Given the description of an element on the screen output the (x, y) to click on. 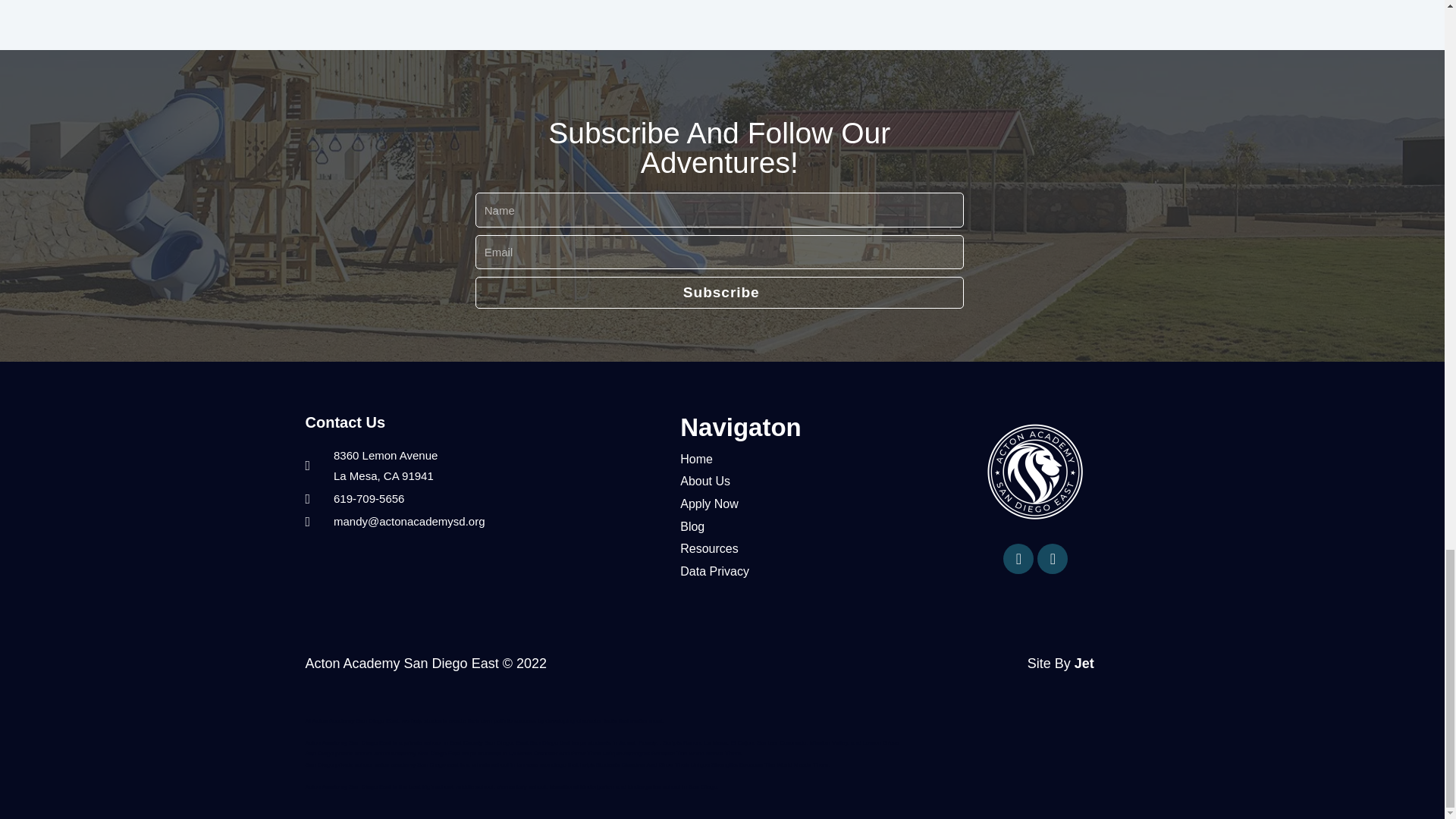
About Us (799, 481)
619-709-5656 (484, 498)
Jet (1084, 663)
Blog (799, 526)
Resources (799, 548)
Data Privacy (799, 571)
Apply Now (799, 504)
Home (799, 458)
Subscribe (718, 291)
